Given the description of an element on the screen output the (x, y) to click on. 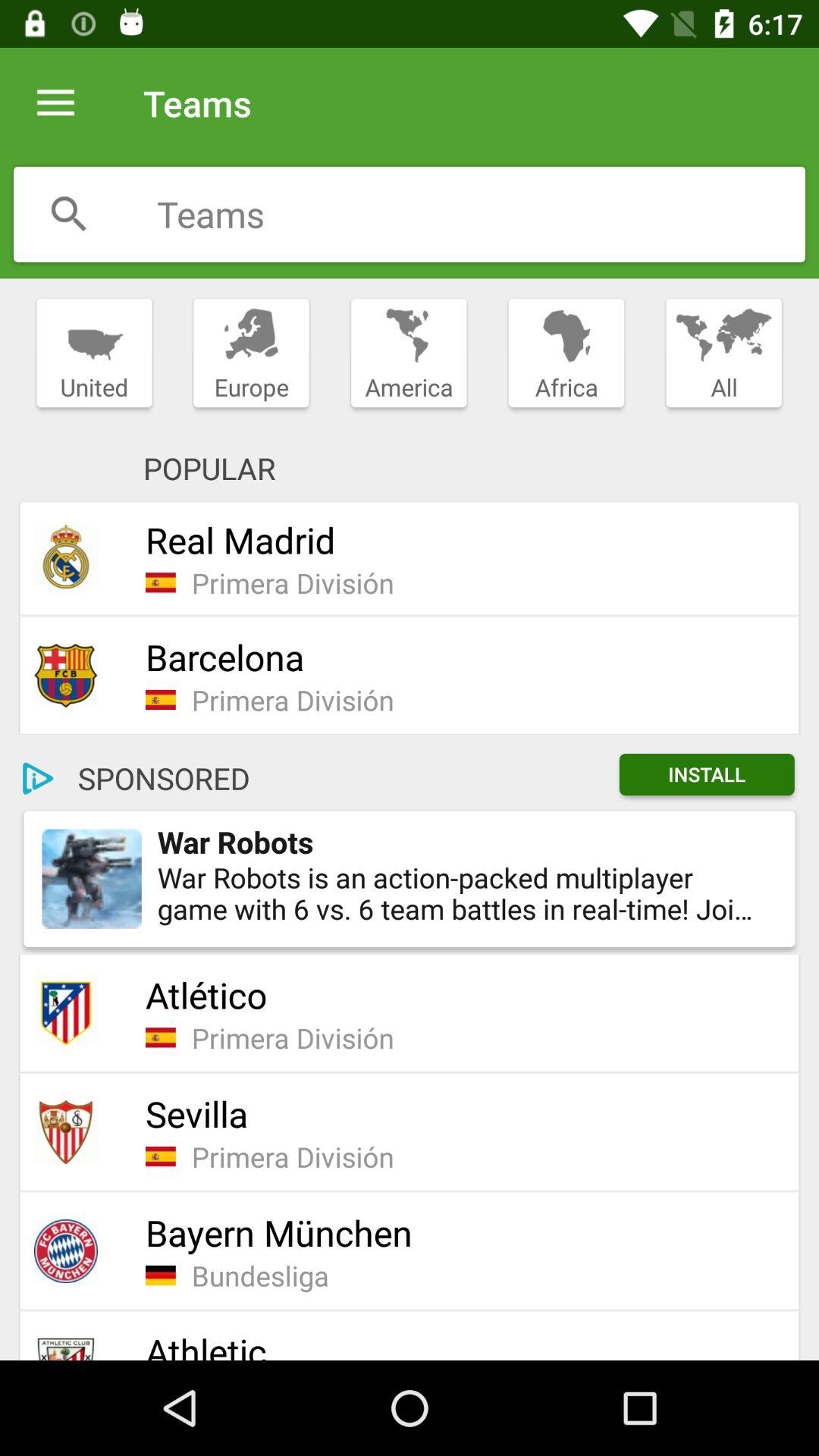
turn on the item next to the europe item (93, 353)
